Given the description of an element on the screen output the (x, y) to click on. 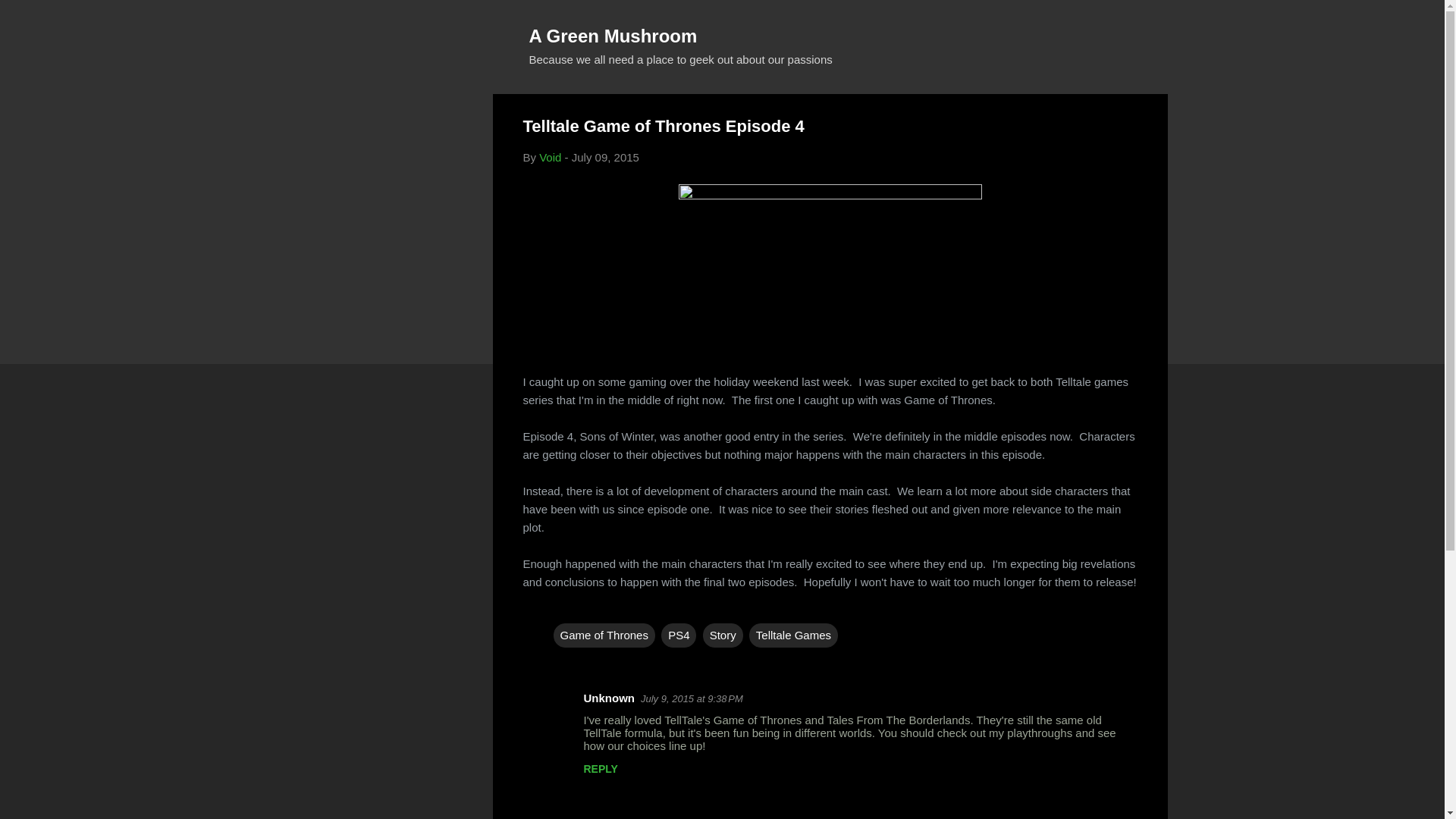
author profile (549, 156)
Unknown (608, 697)
Game of Thrones (604, 635)
Telltale Games (793, 635)
PS4 (678, 635)
Story (722, 635)
July 09, 2015 (605, 156)
permanent link (605, 156)
A Green Mushroom (613, 35)
Void (549, 156)
REPLY (600, 768)
Search (29, 18)
